Given the description of an element on the screen output the (x, y) to click on. 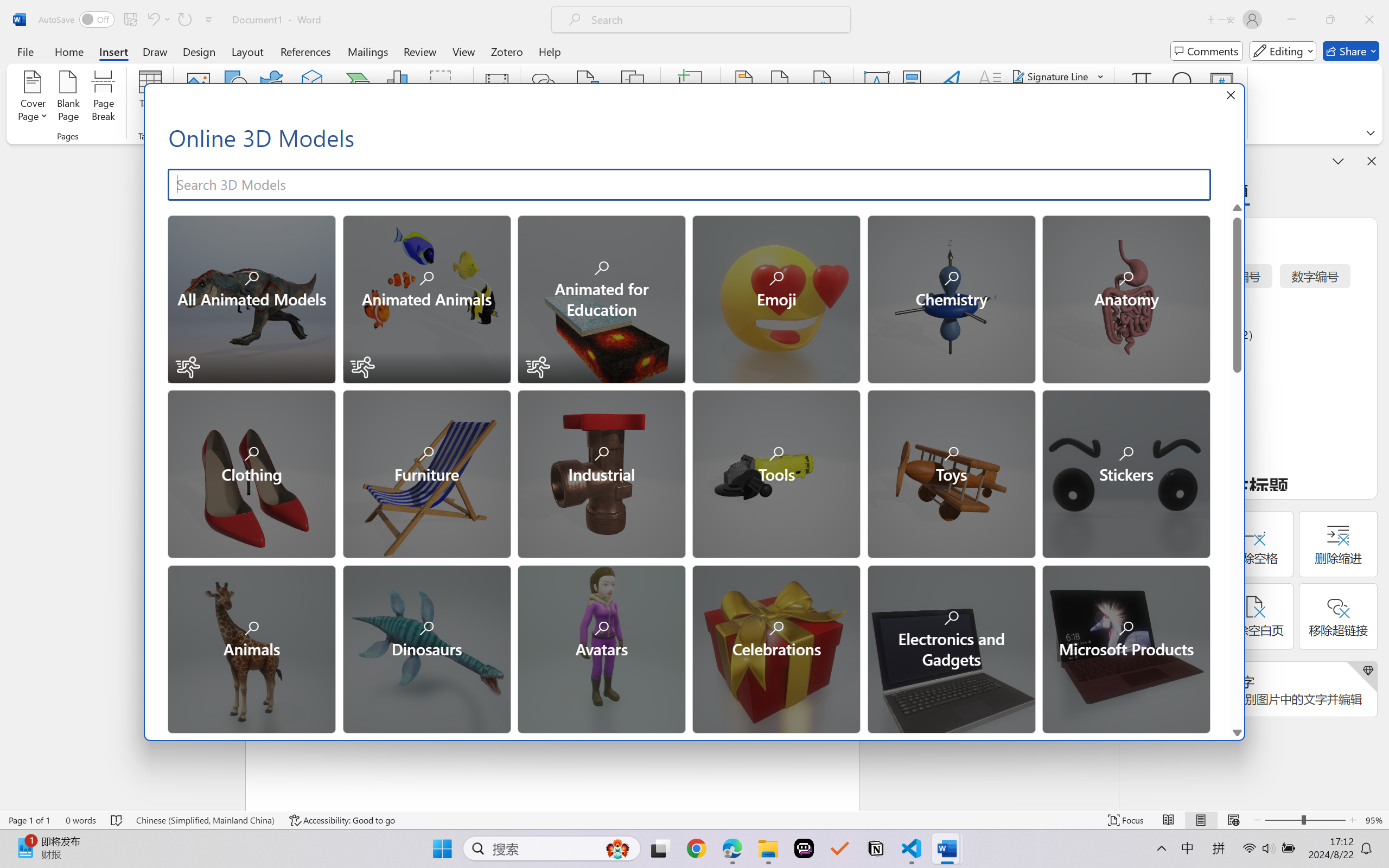
Chemistry (950, 297)
Language Chinese (Simplified, Mainland China) (205, 819)
Repeat Doc Close (184, 19)
